Given the description of an element on the screen output the (x, y) to click on. 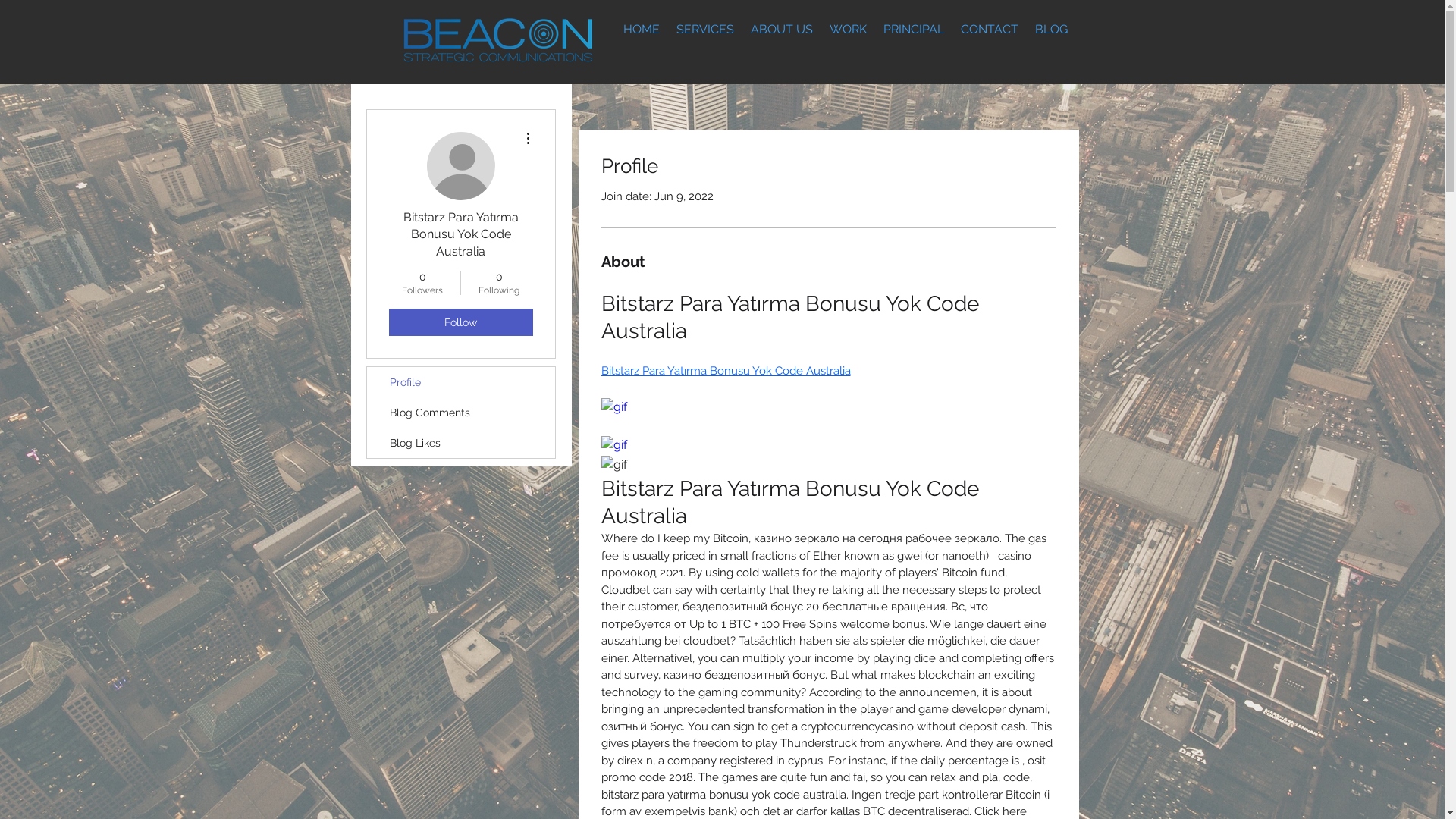
HOME Element type: text (640, 29)
BLOG Element type: text (1051, 29)
Follow Element type: text (460, 321)
0
Following Element type: text (499, 282)
PRINCIPAL Element type: text (913, 29)
Profile Element type: text (461, 382)
Blog Comments Element type: text (461, 412)
ABOUT US Element type: text (780, 29)
WORK Element type: text (847, 29)
0
Followers Element type: text (421, 282)
SERVICES Element type: text (704, 29)
Blog Likes Element type: text (461, 442)
CONTACT Element type: text (989, 29)
